Given the description of an element on the screen output the (x, y) to click on. 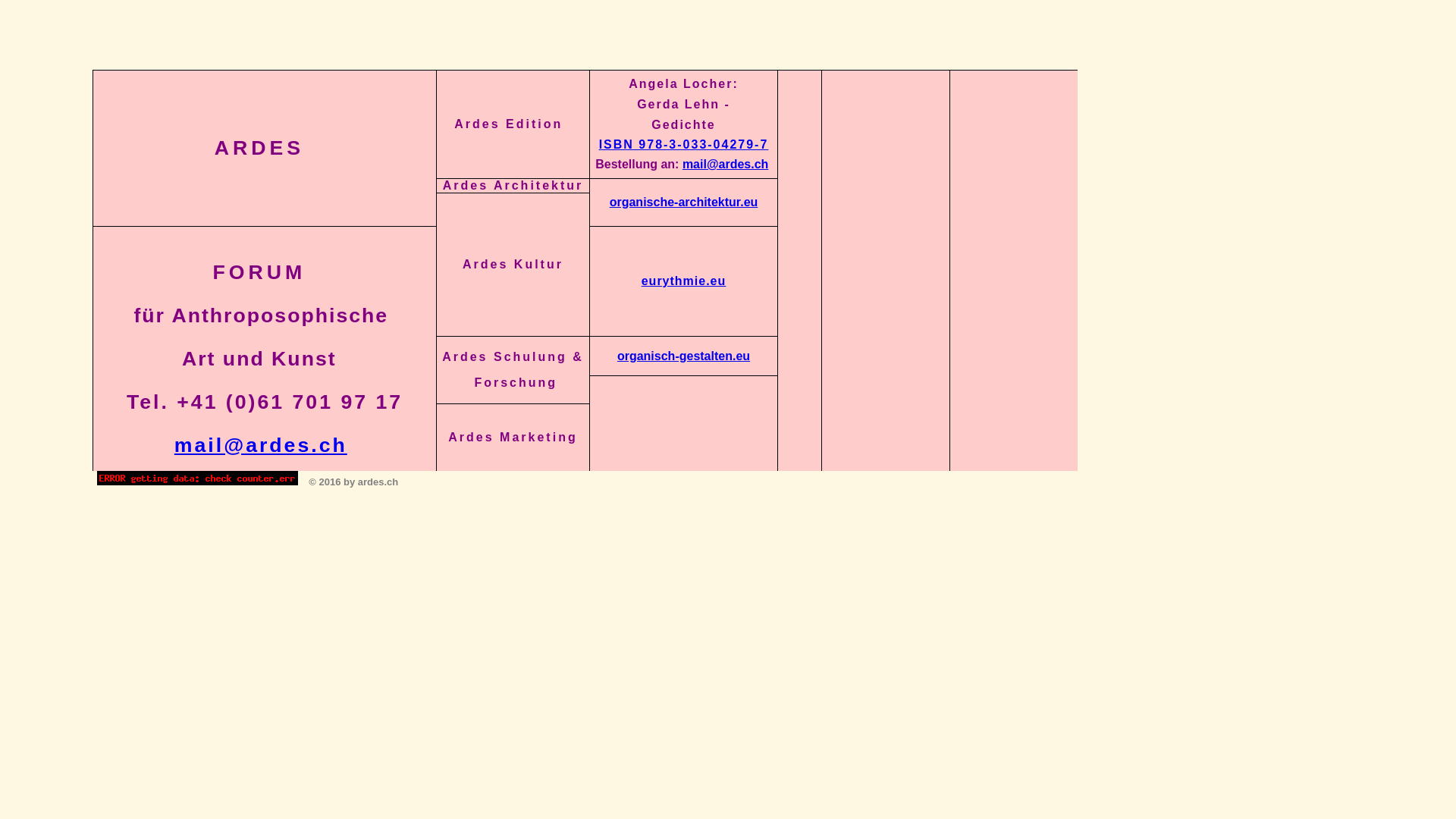
organische-architektur.eu Element type: text (683, 201)
ISBN 978-3-033-04279-7 Element type: text (683, 144)
mail@ardes.ch Element type: text (725, 163)
eurythmie.eu Element type: text (683, 280)
mail@ardes.ch Element type: text (260, 444)
organisch-gestalten.eu Element type: text (683, 354)
